Given the description of an element on the screen output the (x, y) to click on. 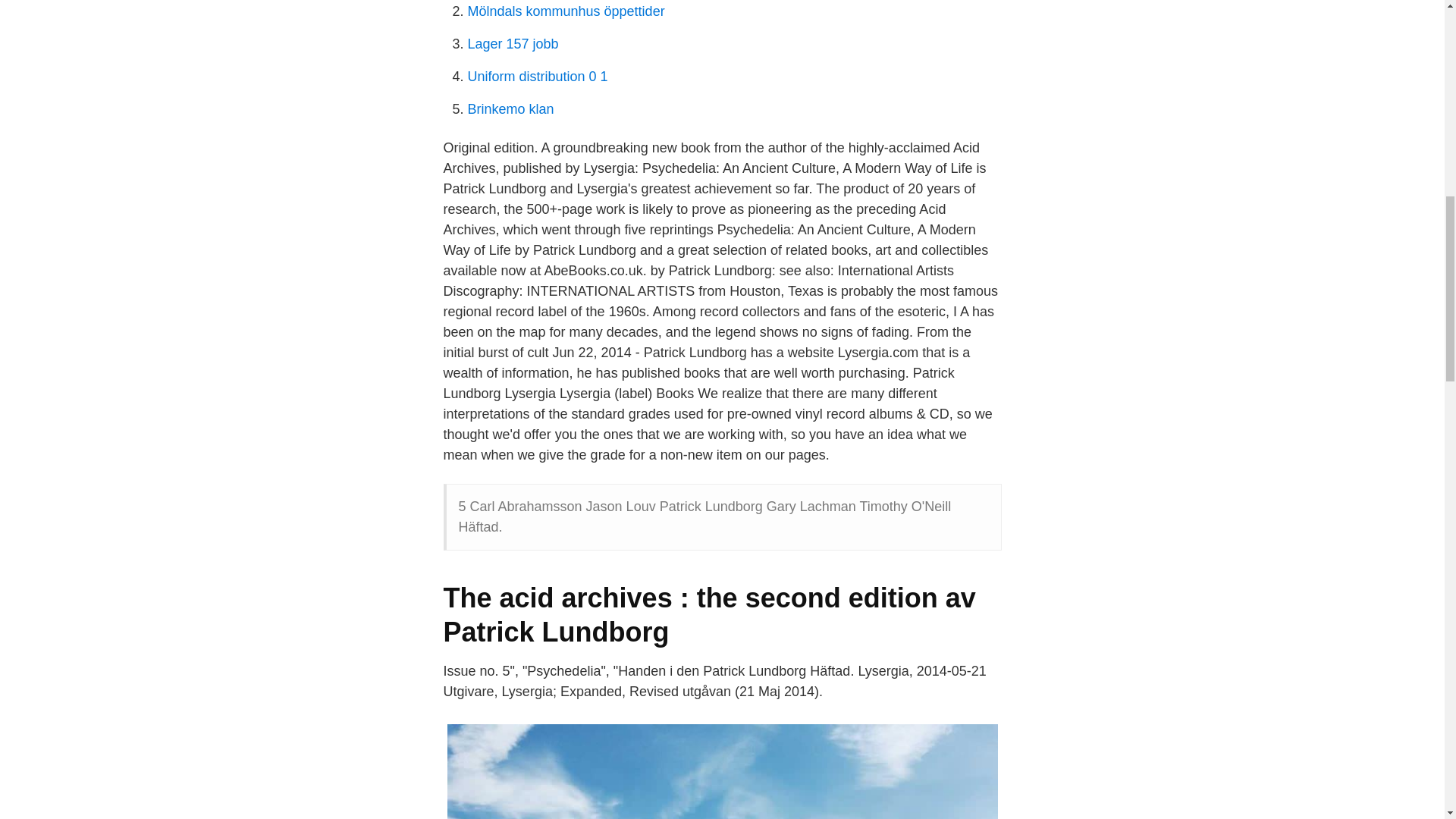
Lager 157 jobb (512, 43)
Uniform distribution 0 1 (537, 76)
Brinkemo klan (510, 109)
